Given the description of an element on the screen output the (x, y) to click on. 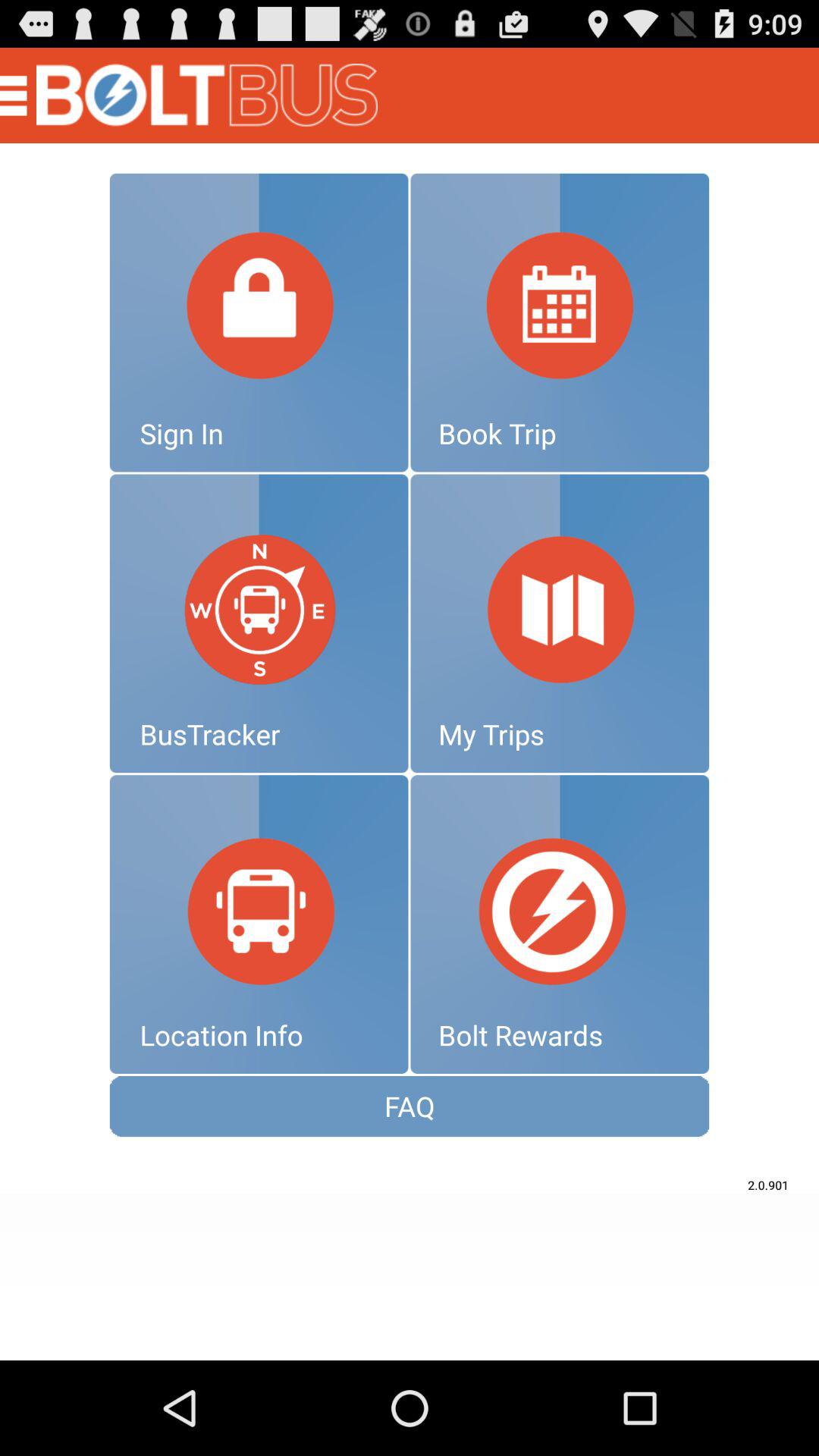
explore bustracker (258, 623)
